Given the description of an element on the screen output the (x, y) to click on. 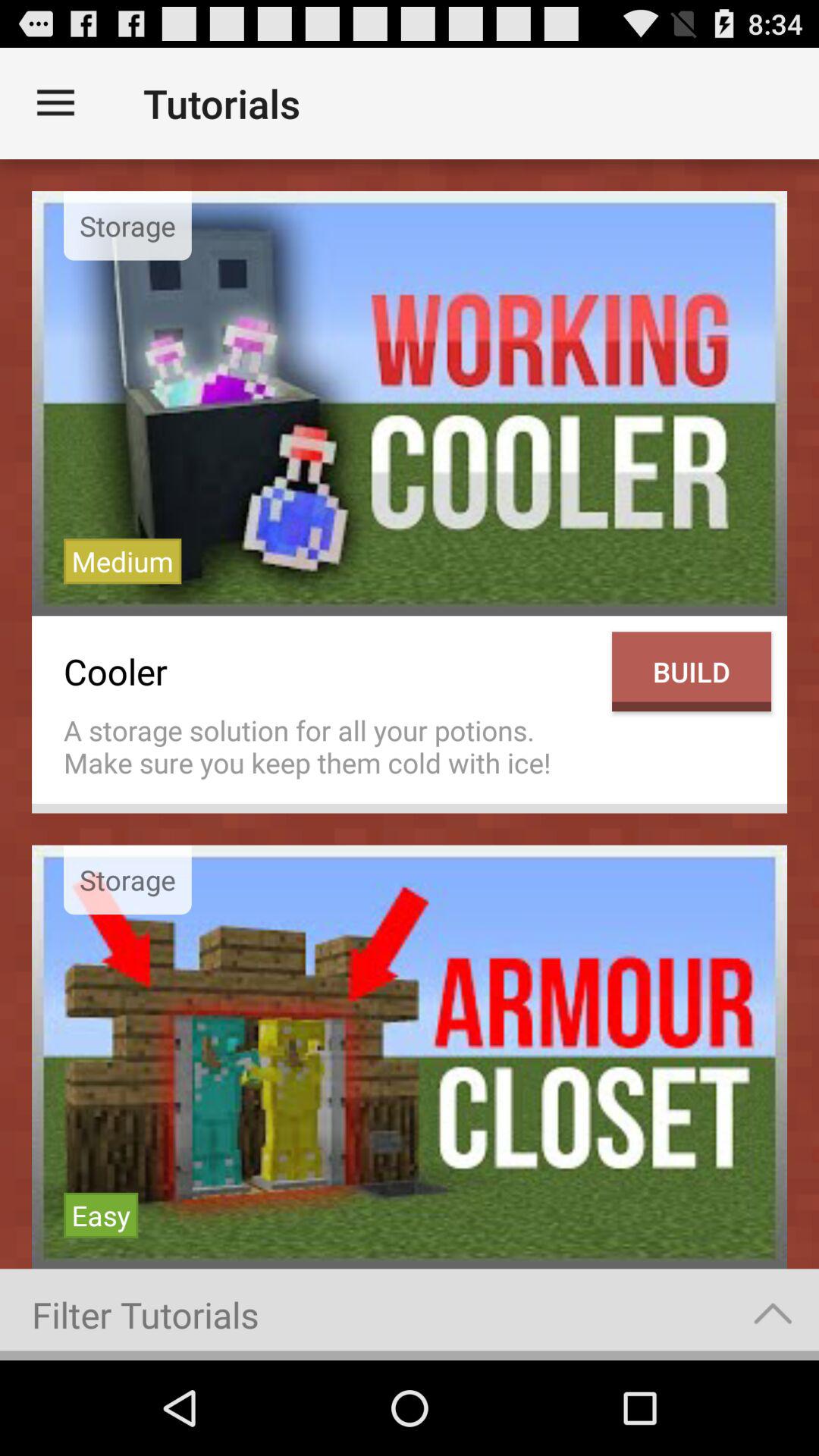
select item next to tutorials item (55, 103)
